Given the description of an element on the screen output the (x, y) to click on. 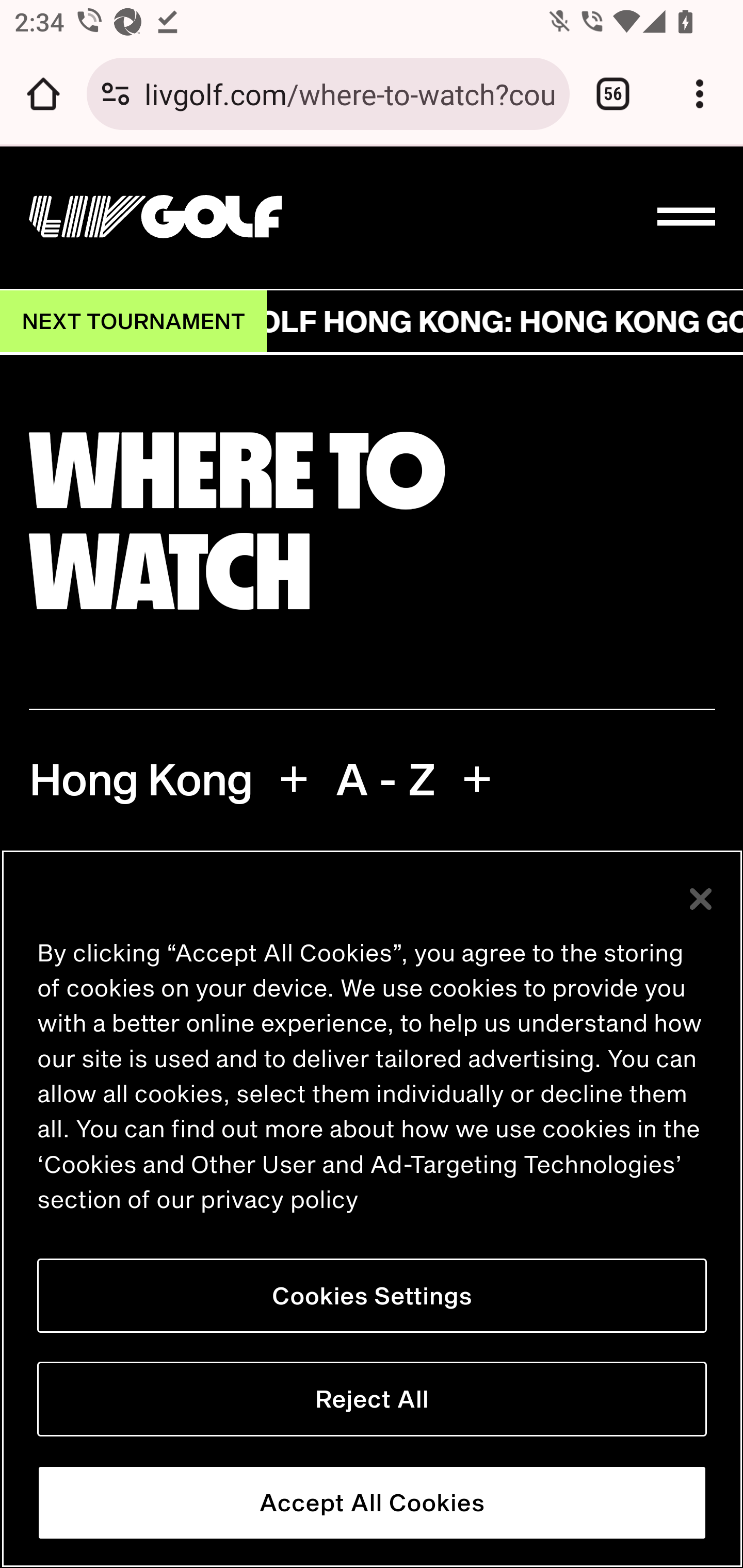
Open the home page (43, 93)
Connection is secure (115, 93)
Switch or close tabs (612, 93)
Customize and control Google Chrome (699, 93)
livgolf.com/where-to-watch?country=hong-kong (349, 92)
Toggle main menu - currently closed (686, 217)
Liv golf logo (154, 216)
Close (701, 899)
Cookies Settings (372, 1295)
Reject All (372, 1399)
Accept All Cookies (372, 1502)
